Given the description of an element on the screen output the (x, y) to click on. 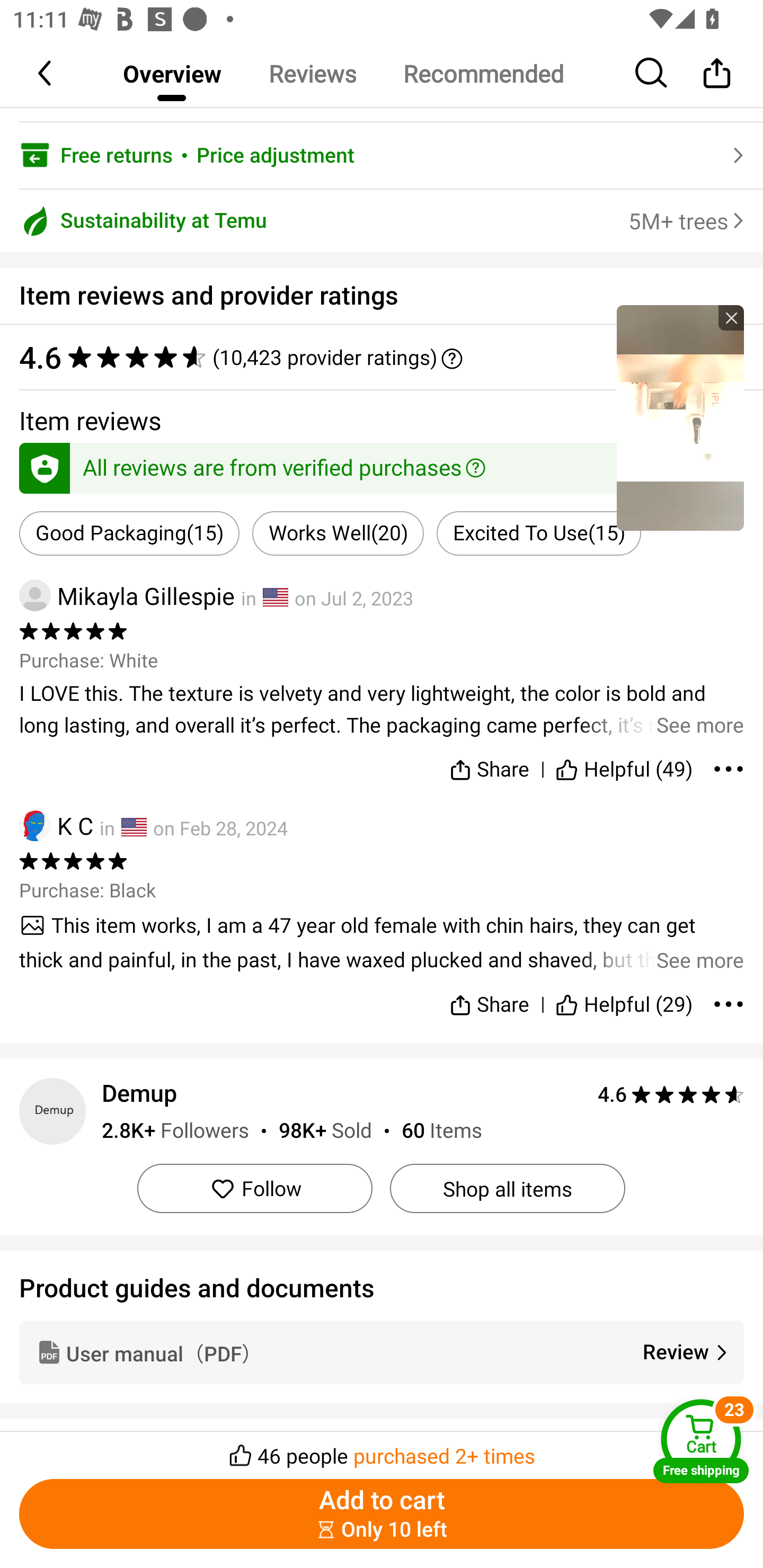
Overview (171, 72)
Reviews (311, 72)
Recommended (482, 72)
Back (46, 72)
Share (716, 72)
Free returns￼Price adjustment (381, 155)
Sustainability at Temu 5M+ trees (381, 220)
tronplayer_view (680, 417)
4.6 ‪(10,423 provider ratings) (381, 356)
All reviews are from verified purchases  (381, 464)
Good Packaging(15) (129, 533)
Works Well(20) (338, 533)
Excited To Use(15) (538, 533)
Mikayla Gillespie (127, 595)
See more (381, 710)
  Share (489, 765)
  Helpful (49) (624, 765)
K C (56, 825)
See more (381, 942)
  Share (489, 996)
  Helpful (29) (624, 996)
  Follow (254, 1188)
Shop all items (506, 1188)
User manual（PDF） Review (381, 1352)
Cart Free shipping Cart (701, 1440)
￼￼46 people purchased 2+ times (381, 1450)
Add to cart ￼￼Only 10 left (381, 1513)
